Given the description of an element on the screen output the (x, y) to click on. 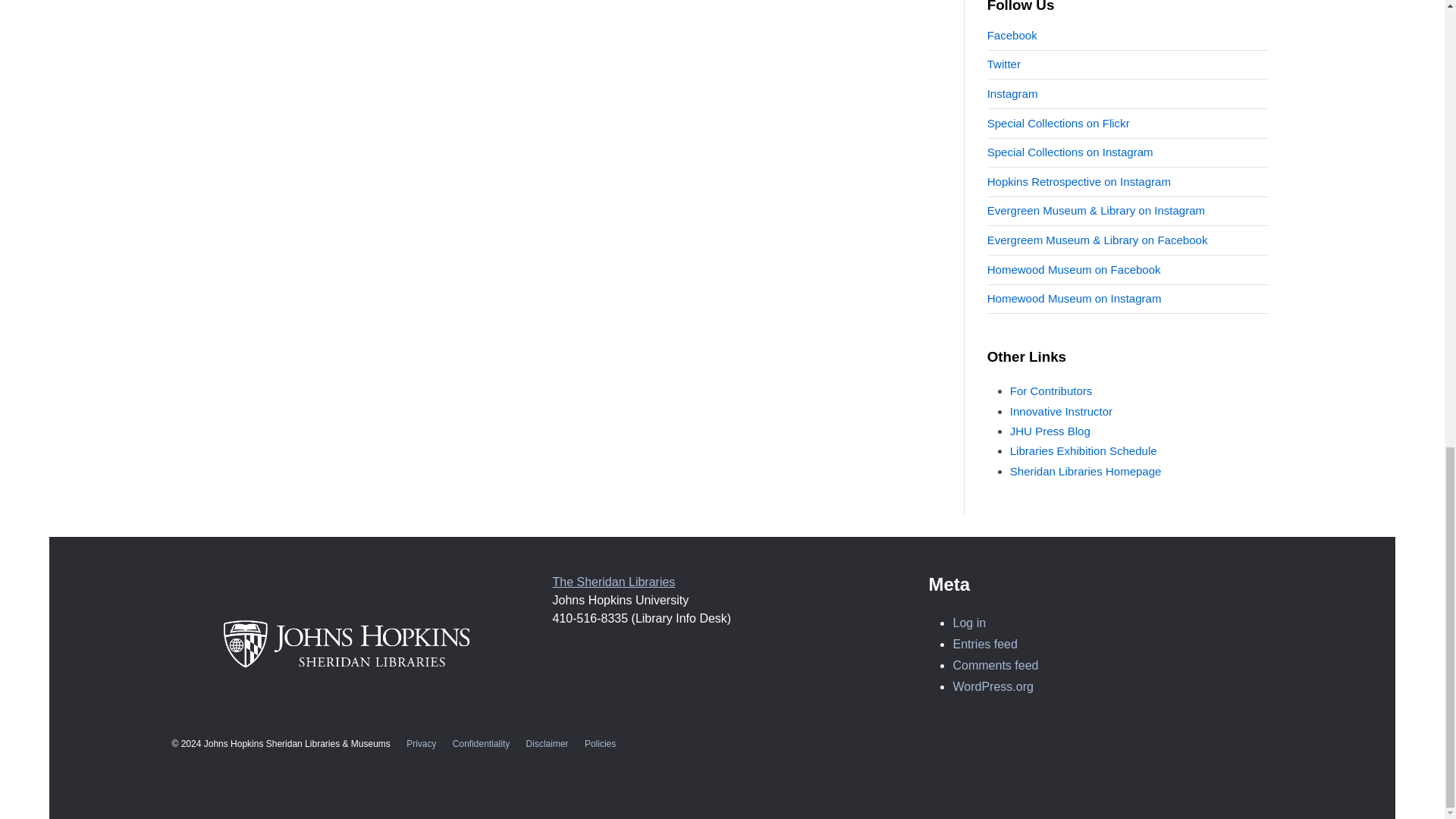
Innovative Instructor (1061, 410)
Facebook (1011, 34)
Twitter (1003, 63)
Homewood Museum on Instagram (1074, 297)
Homewood Museum on Facebook (1073, 269)
Sheridan Libraries Homepage (1085, 471)
JHU Press Blog (1050, 431)
Special Collections on Flickr (1058, 123)
Hopkins Retrospective on Instagram (1078, 181)
Libraries Exhibition Schedule (1083, 450)
For Contributors (1051, 390)
Instagram (1012, 92)
Special Collections on Instagram (1070, 151)
